Given the description of an element on the screen output the (x, y) to click on. 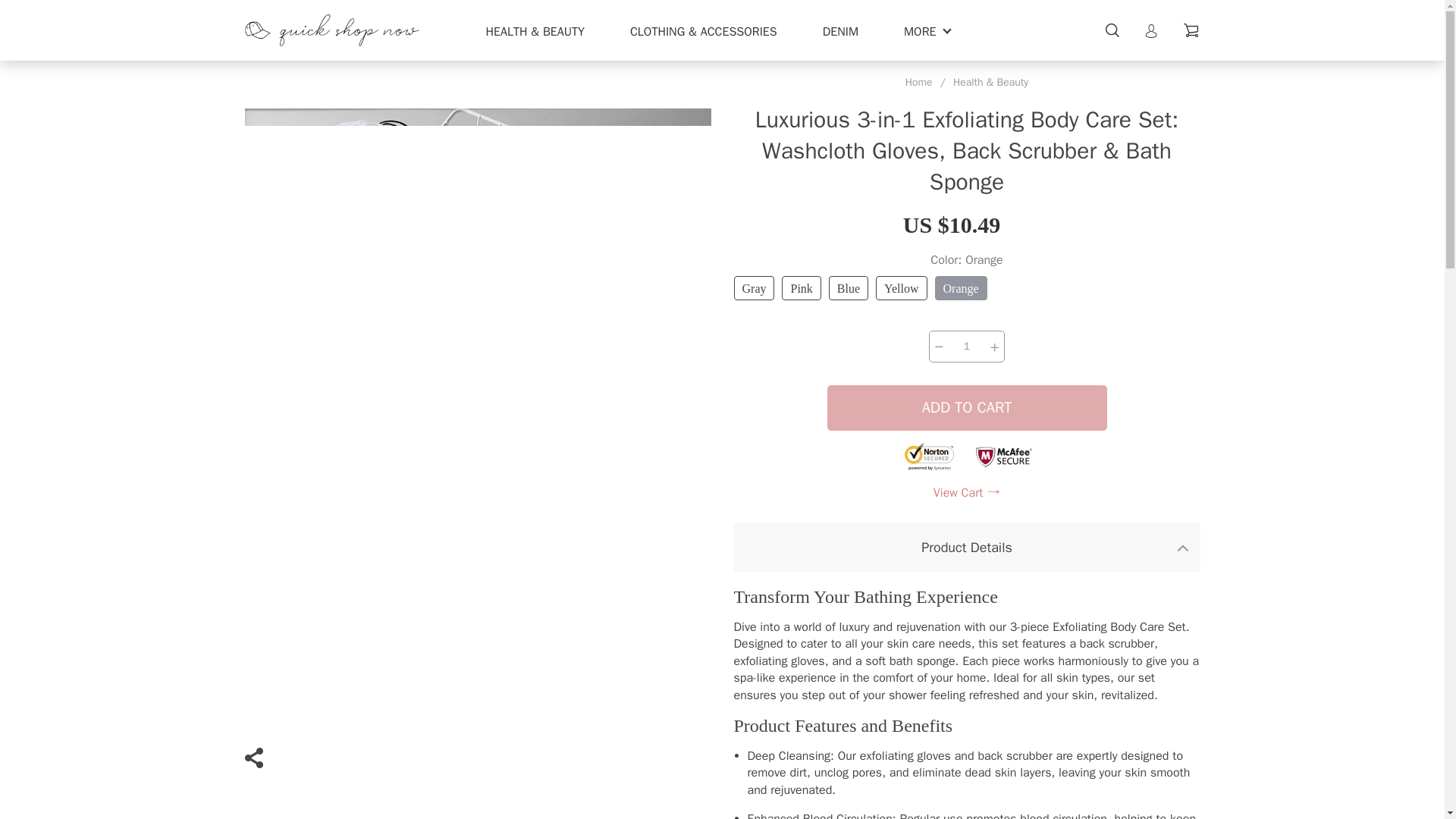
DENIM (840, 31)
10136-5ac4af.jpg (966, 279)
